Given the description of an element on the screen output the (x, y) to click on. 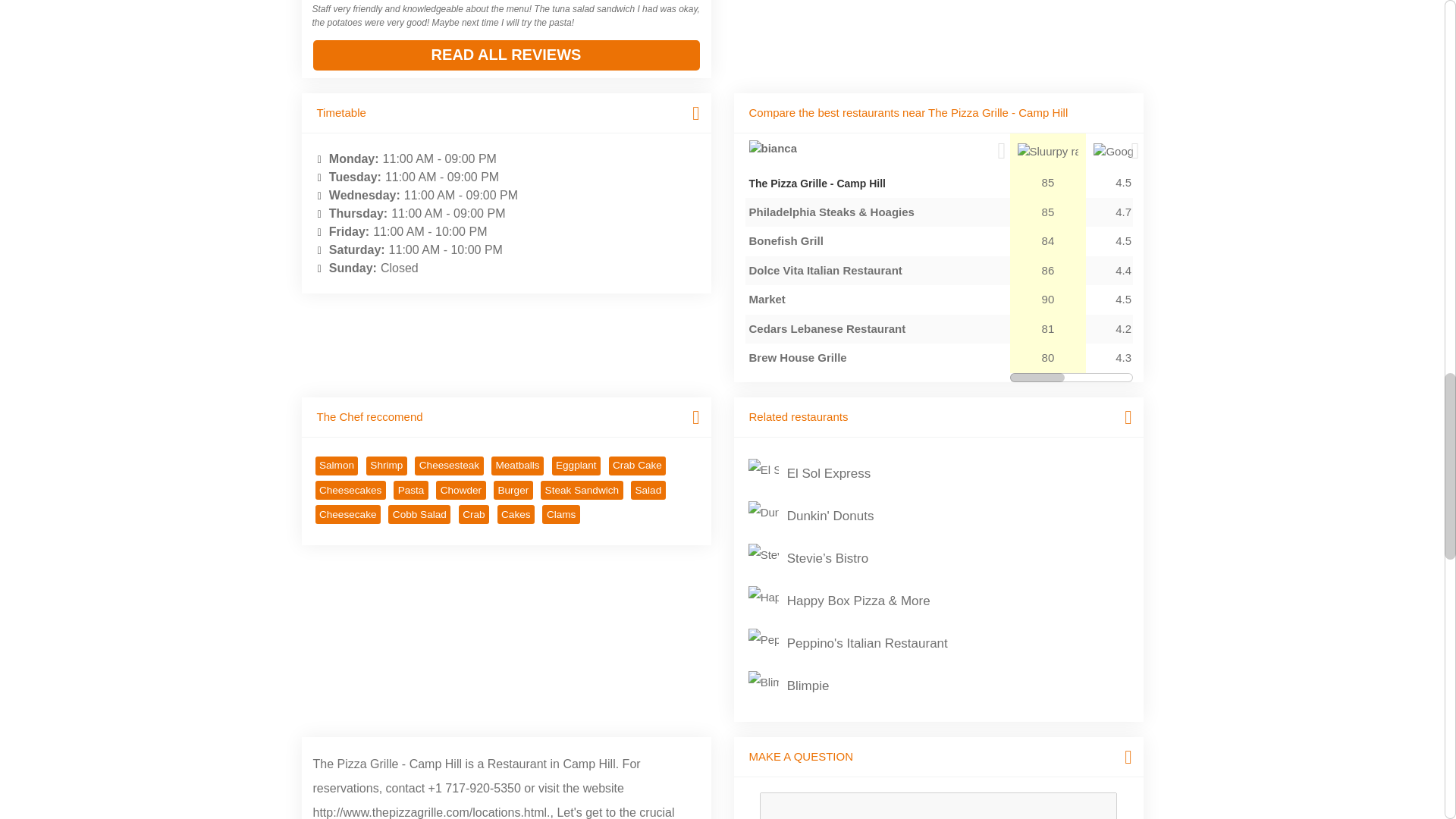
Facebook rate (1205, 151)
Google rate (1123, 151)
Sluurpy rate (1047, 151)
bianca (773, 149)
